Given the description of an element on the screen output the (x, y) to click on. 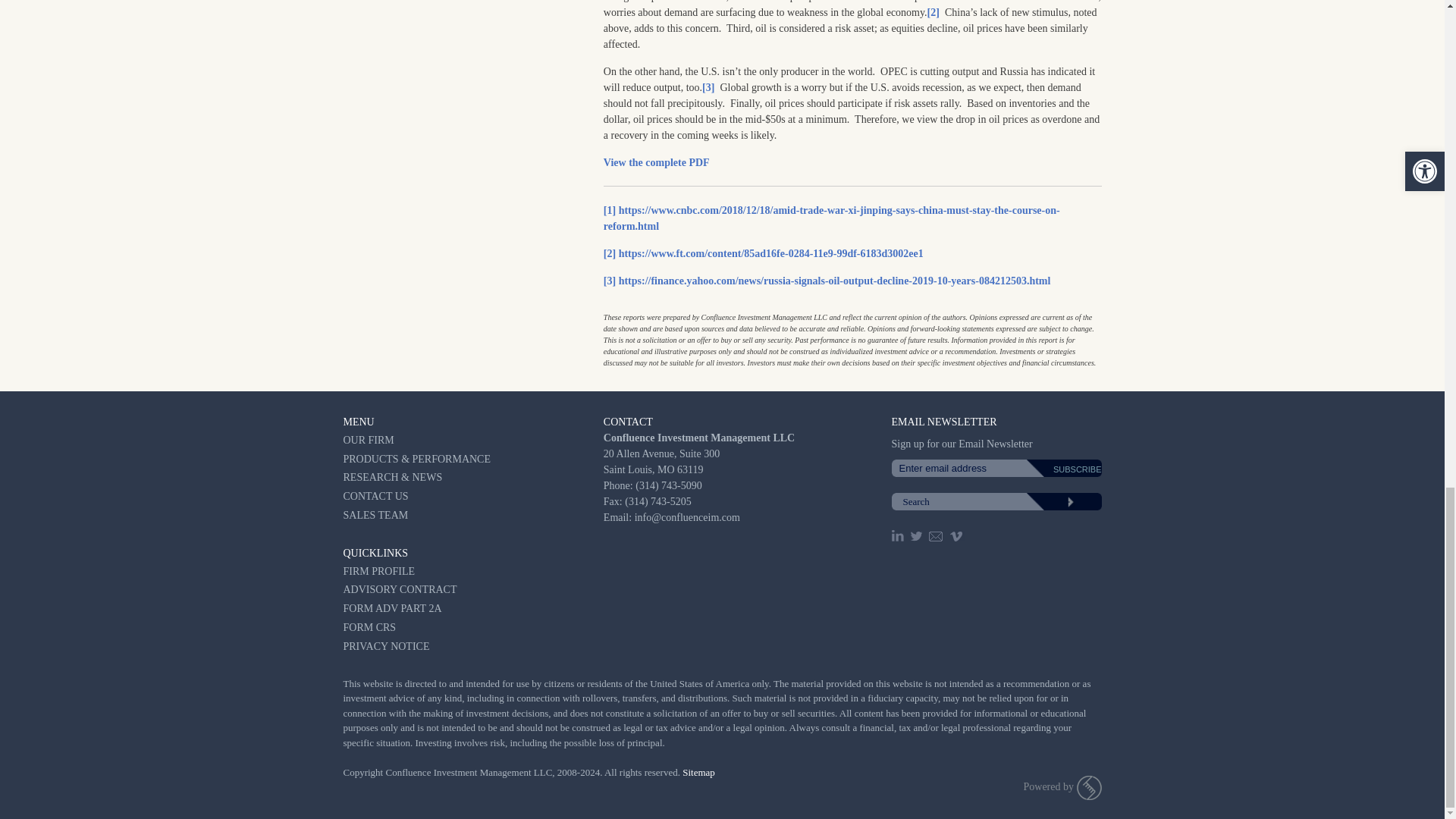
Twitter (917, 535)
Main logo (1089, 786)
Vimeo (957, 535)
Email (935, 535)
LinkedIn (899, 535)
Subscribe (1070, 469)
